Given the description of an element on the screen output the (x, y) to click on. 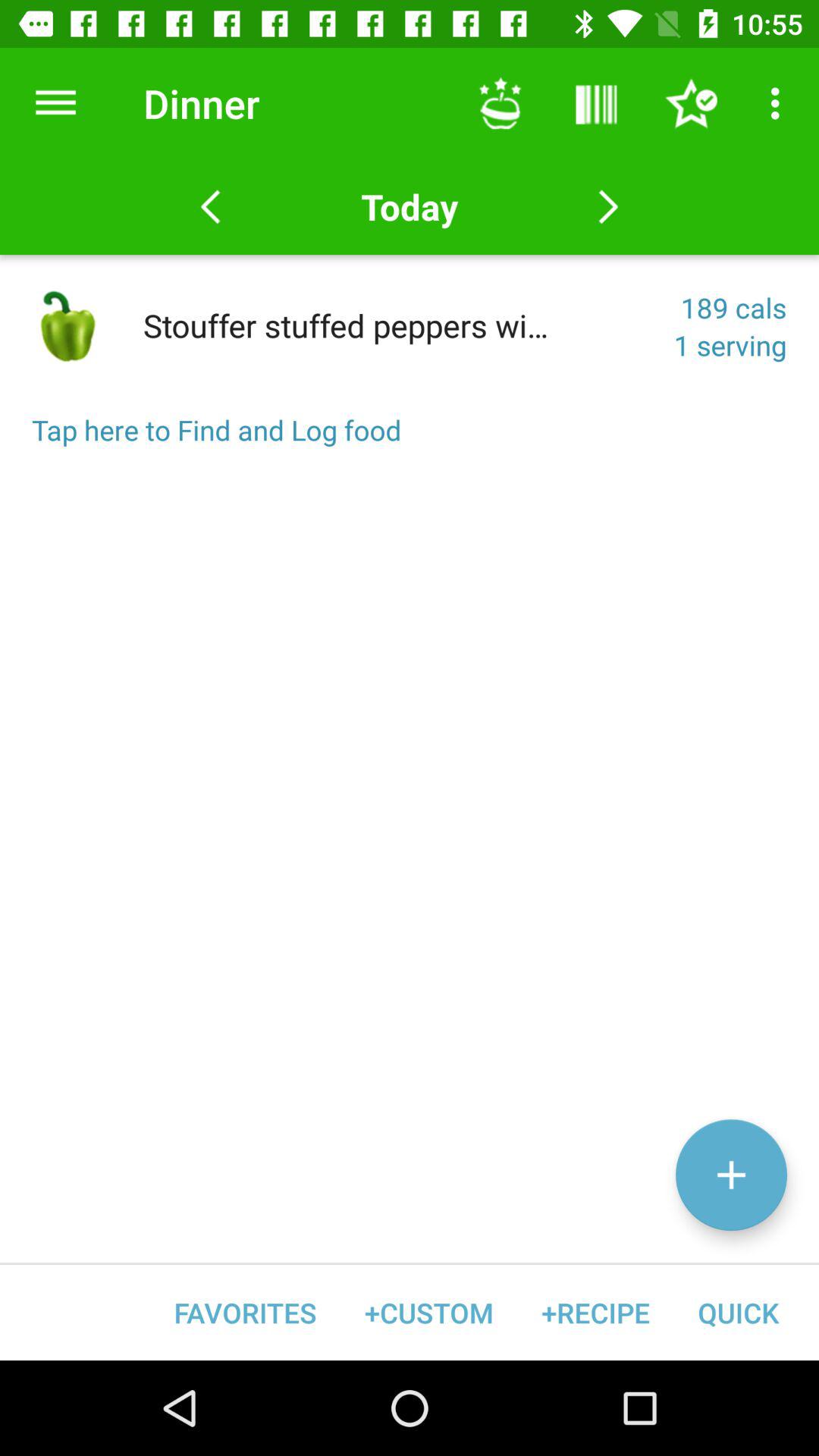
click the icon to the left of dinner icon (55, 103)
